Given the description of an element on the screen output the (x, y) to click on. 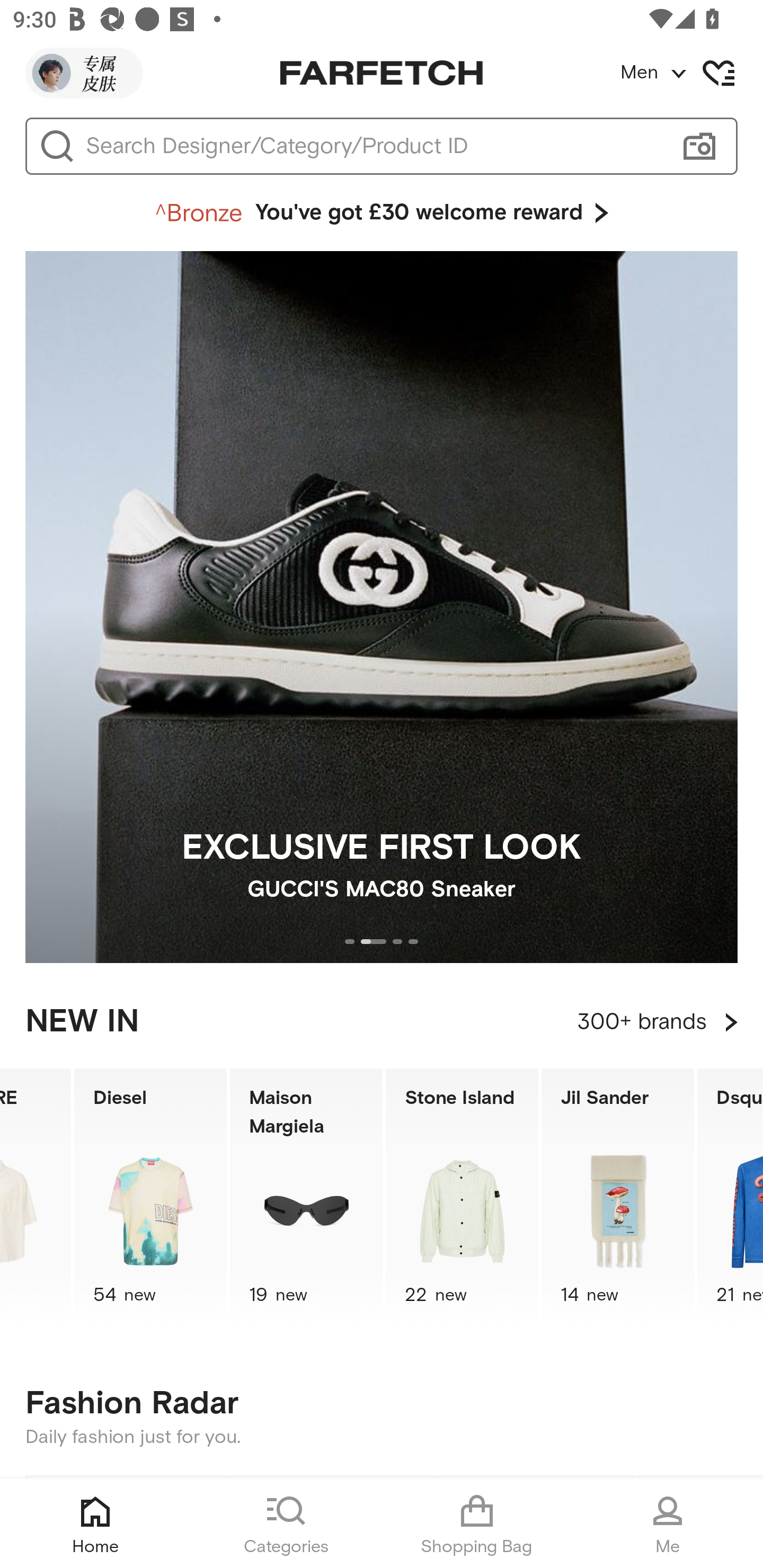
Men (691, 72)
Search Designer/Category/Product ID (373, 146)
You've got £30 welcome reward (381, 213)
NEW IN 300+ brands (381, 1021)
Diesel 54  new (150, 1196)
Maison Margiela 19  new (305, 1196)
Stone Island 22  new (462, 1196)
Jil Sander 14  new (617, 1196)
Categories (285, 1523)
Shopping Bag (476, 1523)
Me (667, 1523)
